Given the description of an element on the screen output the (x, y) to click on. 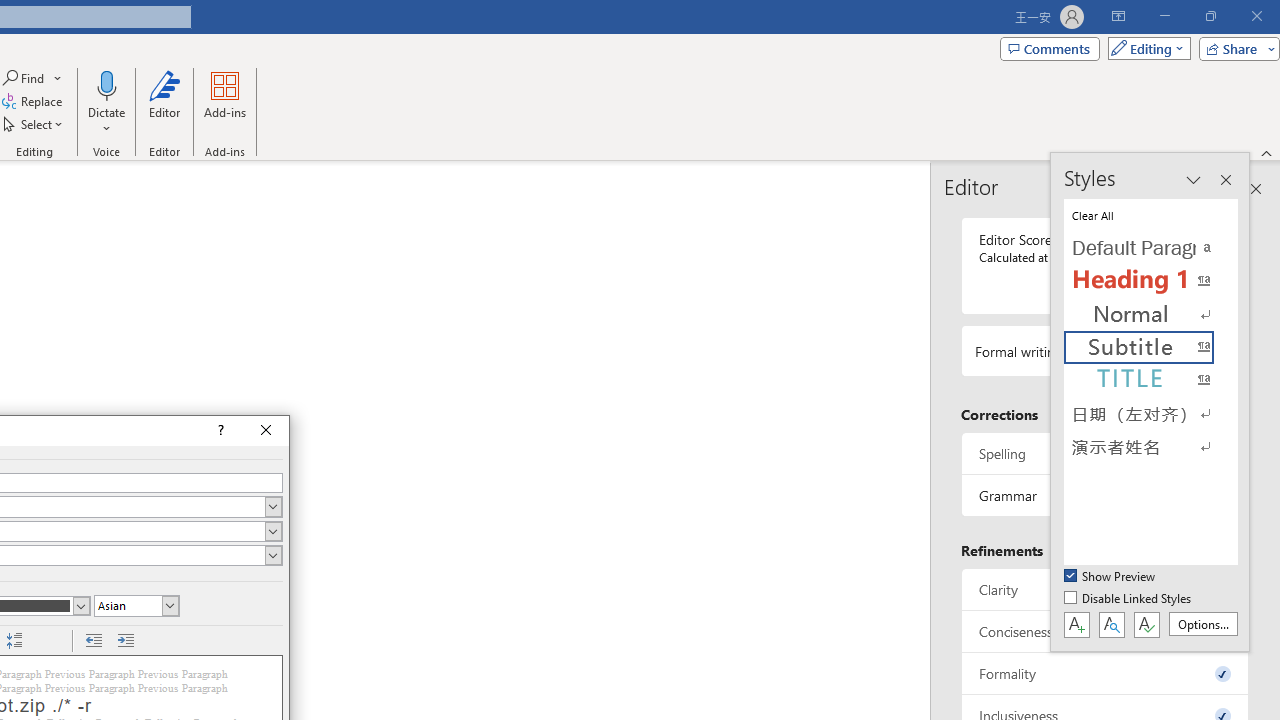
Class: NetUIButton (1146, 624)
Clarity, 0 issues. Press space or enter to review items. (1105, 588)
Formatting script (136, 605)
Title (1150, 380)
Editing (1144, 47)
Formality, 0 issues. Press space or enter to review items. (1105, 673)
Clear All (1150, 214)
